Given the description of an element on the screen output the (x, y) to click on. 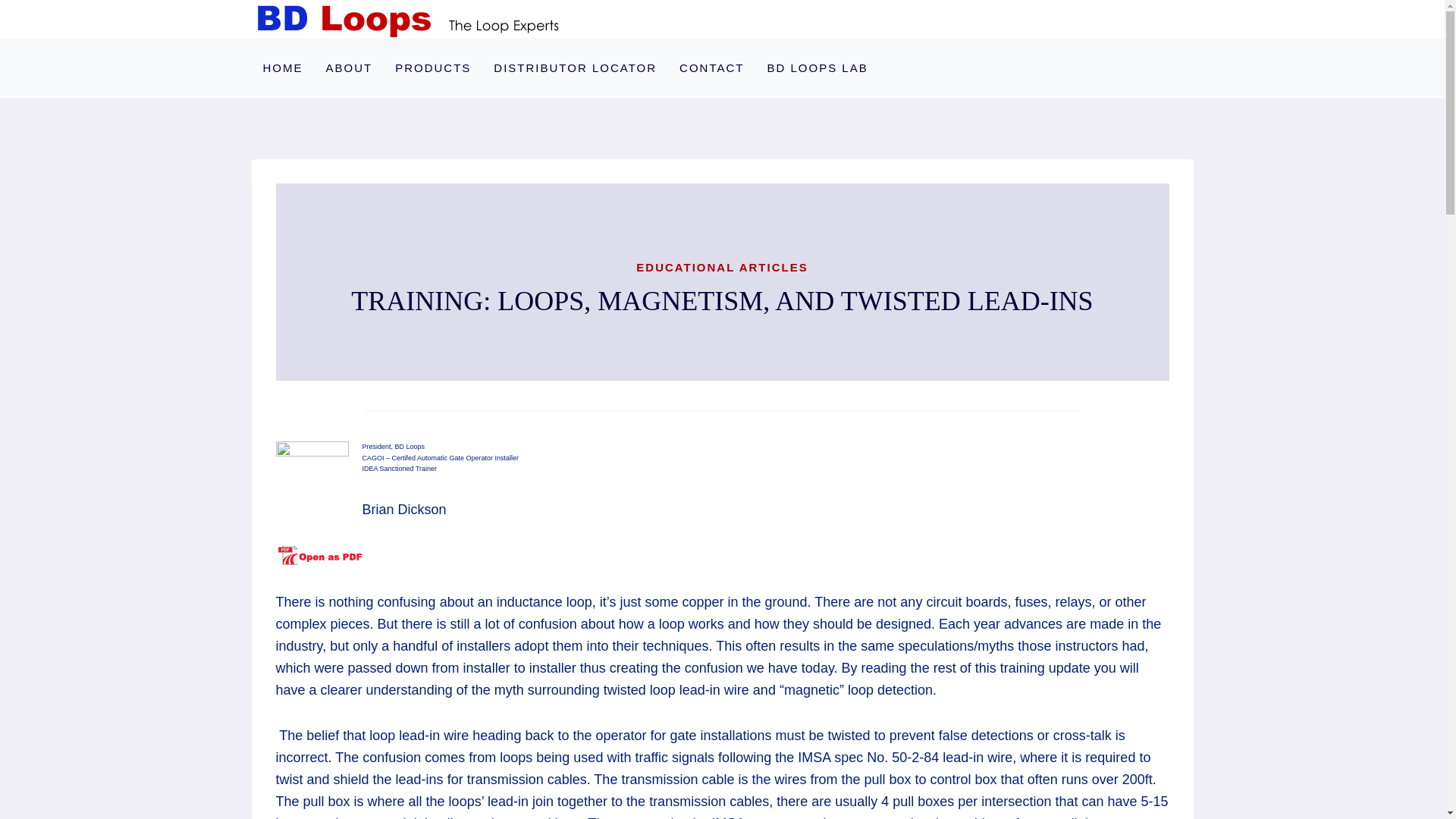
DISTRIBUTOR LOCATOR (574, 67)
PRODUCTS (432, 67)
CONTACT (711, 67)
HOME (282, 67)
ABOUT (349, 67)
BD LOOPS LAB (817, 67)
